Given the description of an element on the screen output the (x, y) to click on. 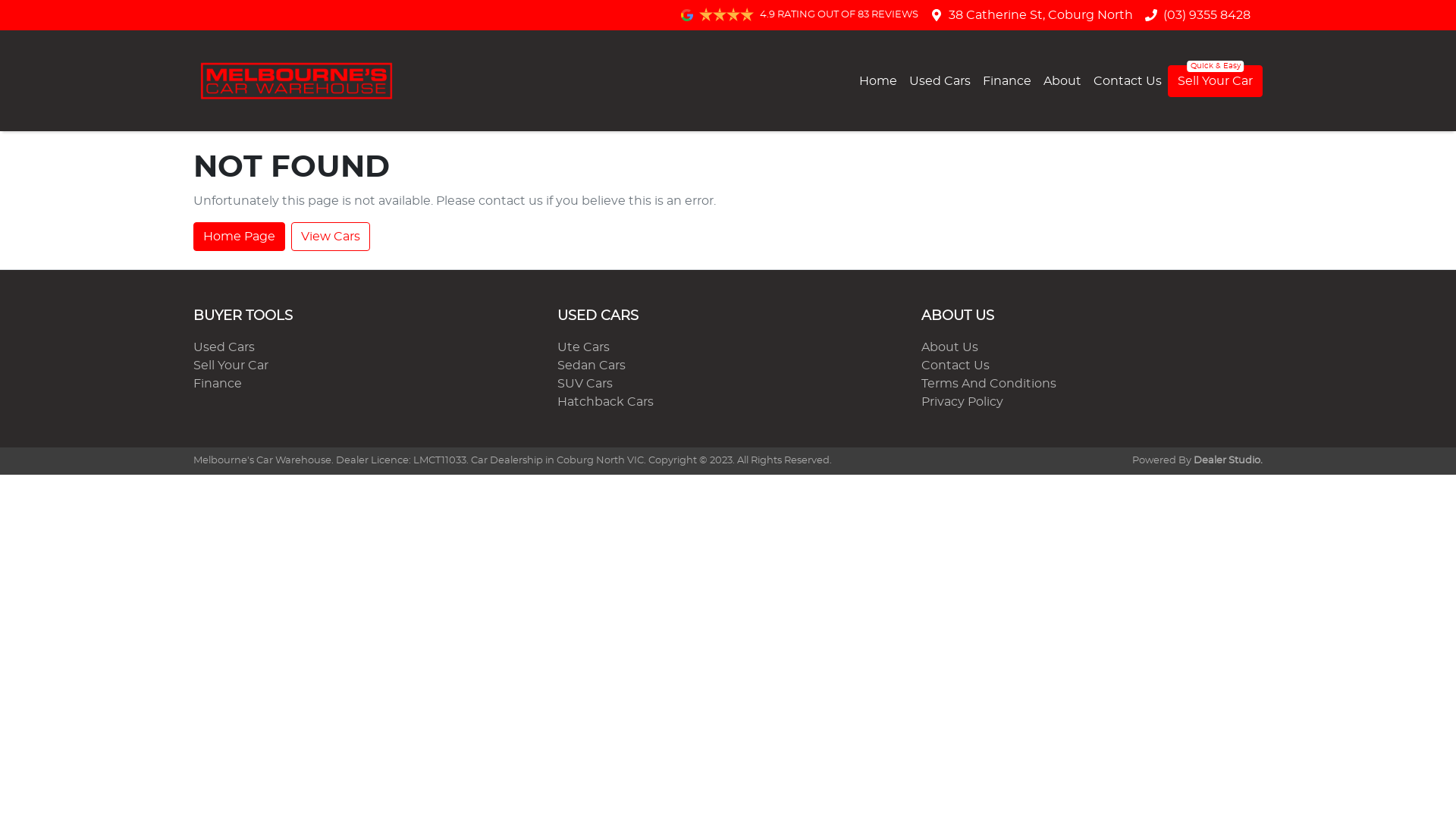
Terms And Conditions Element type: text (988, 383)
(03) 9355 8428 Element type: text (1206, 15)
Sell Your Car Element type: text (230, 365)
SUV Cars Element type: text (584, 383)
About Us Element type: text (949, 347)
Contact Us Element type: text (1127, 80)
Used Cars Element type: text (223, 347)
Ute Cars Element type: text (583, 347)
Contact Us Element type: text (955, 365)
Hatchback Cars Element type: text (605, 401)
Finance Element type: text (217, 383)
View Cars Element type: text (330, 236)
38 Catherine St, Coburg North Element type: text (1040, 15)
About Element type: text (1062, 80)
Home Page Element type: text (239, 236)
Home Element type: text (878, 80)
Dealer Studio. Element type: text (1227, 460)
Sedan Cars Element type: text (591, 365)
Used Cars Element type: text (939, 80)
Finance Element type: text (1006, 80)
Sell Your Car Element type: text (1214, 81)
Privacy Policy Element type: text (962, 401)
